Given the description of an element on the screen output the (x, y) to click on. 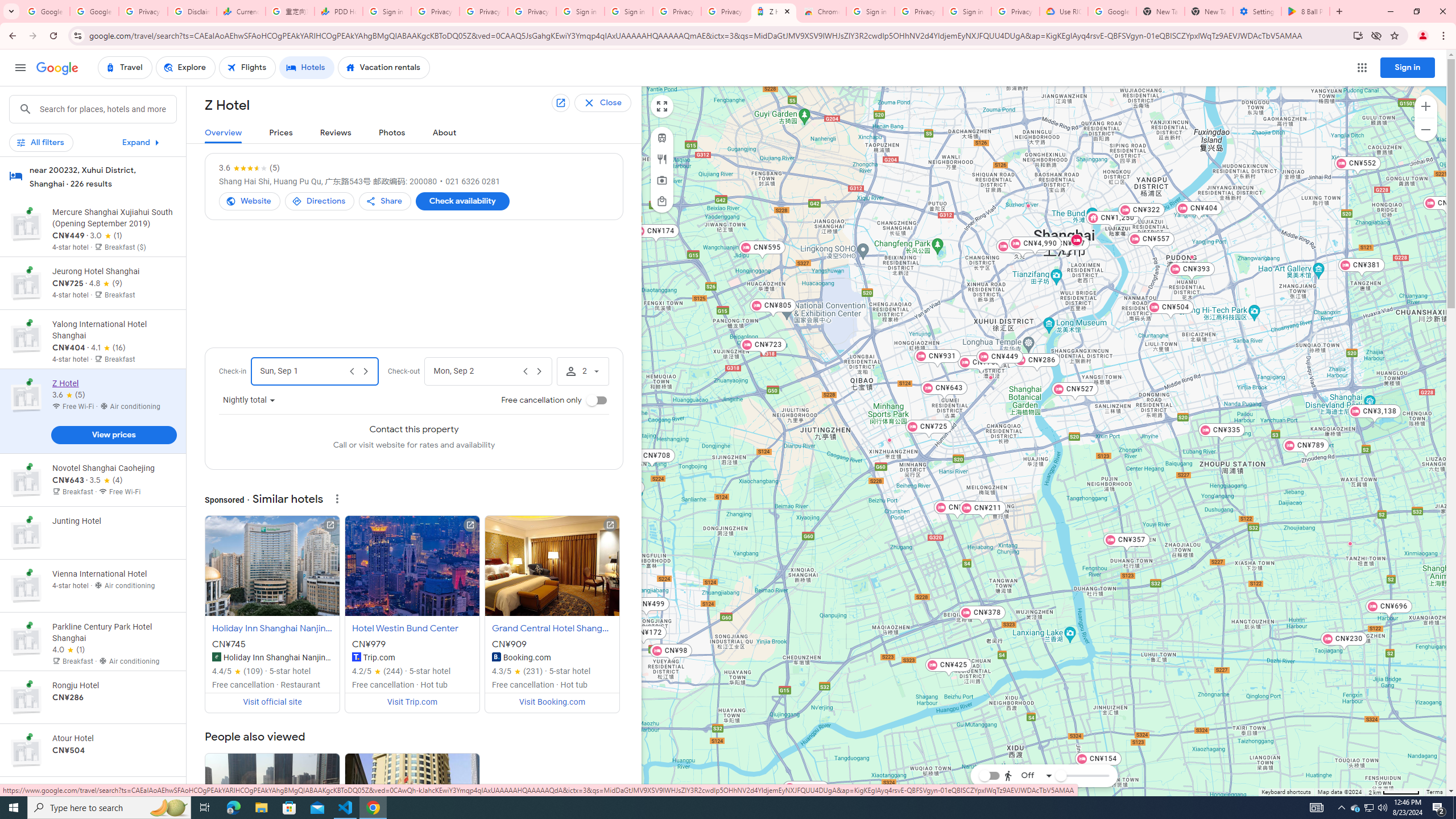
View prices for Z Hotel (113, 436)
Skip to main content (92, 147)
Attractions (661, 180)
Trip.com (356, 656)
Main menu (20, 67)
PDD Holdings Inc - ADR (PDD) Price & News - Google Finance (338, 11)
Off (1027, 775)
